Given the description of an element on the screen output the (x, y) to click on. 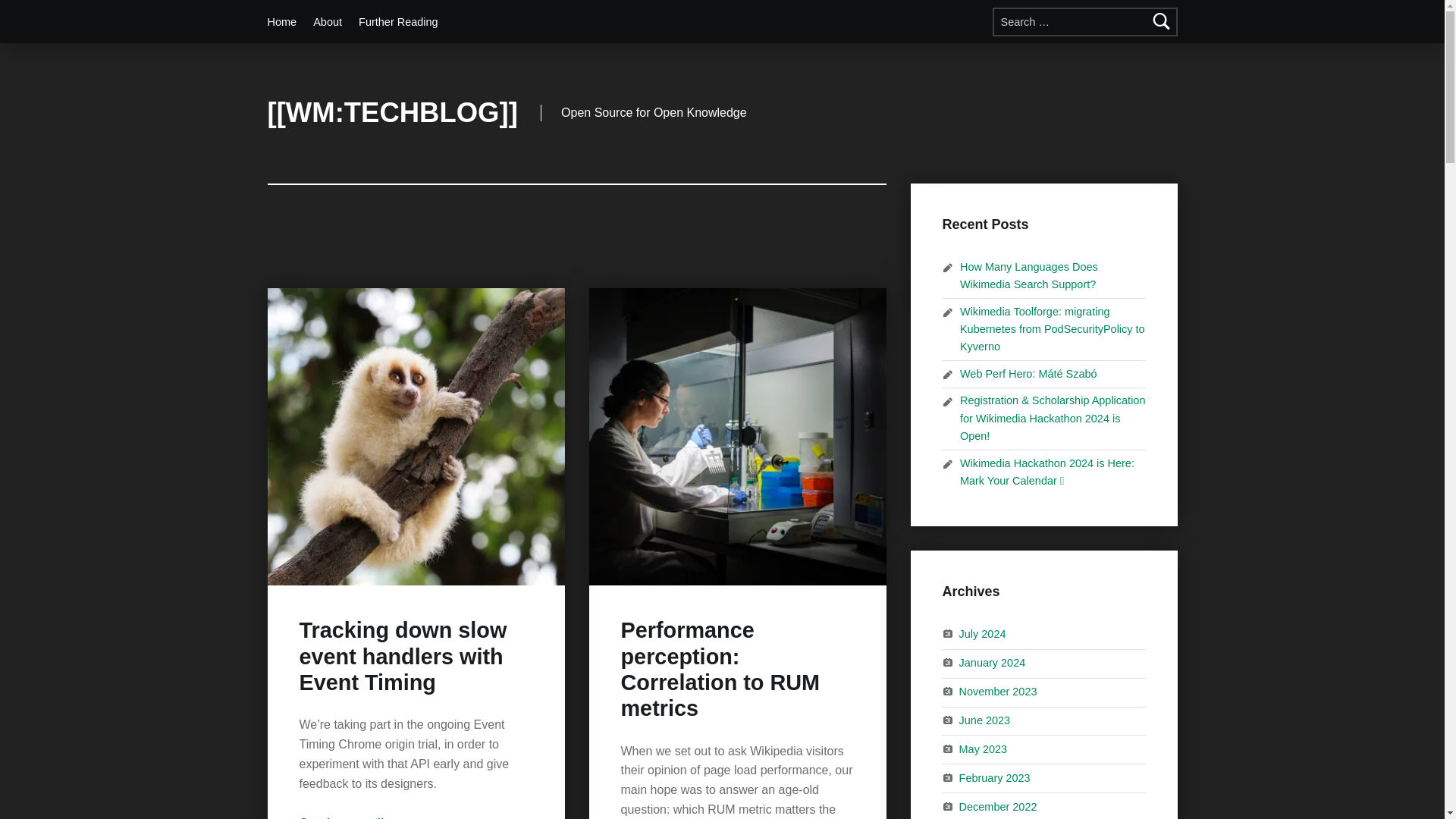
Search (1162, 21)
Search (1162, 21)
Performance perception: Correlation to RUM metrics (719, 669)
Search (1162, 21)
Further Reading (398, 21)
Tracking down slow event handlers with Event Timing (402, 656)
